Given the description of an element on the screen output the (x, y) to click on. 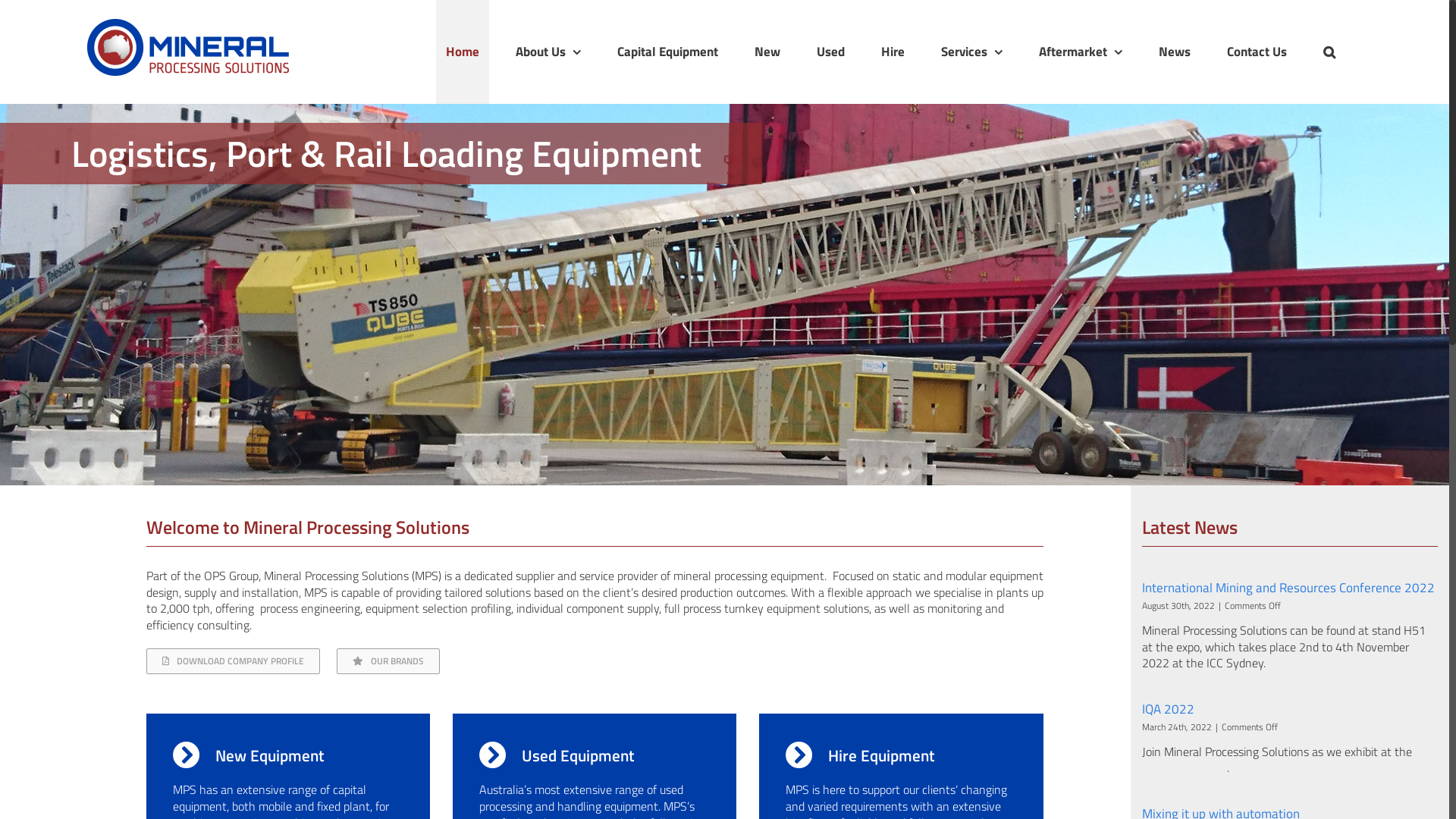
About Us Element type: text (547, 51)
News Element type: text (1174, 51)
Hire Equipment Element type: text (860, 755)
Services Element type: text (971, 51)
New Equipment Element type: text (248, 755)
DOWNLOAD COMPANY PROFILE Element type: text (233, 661)
Contact Us Element type: text (1256, 51)
Used Element type: text (830, 51)
Home Element type: text (462, 51)
New Element type: text (767, 51)
IQA 2022 Element type: text (1168, 708)
Search Element type: hover (1329, 51)
Used Equipment Element type: text (556, 755)
International Mining and Resources Conference 2022 Element type: text (1288, 587)
Capital Equipment Element type: text (667, 51)
Hire Element type: text (892, 51)
OUR BRANDS Element type: text (387, 661)
Aftermarket Element type: text (1080, 51)
